Given the description of an element on the screen output the (x, y) to click on. 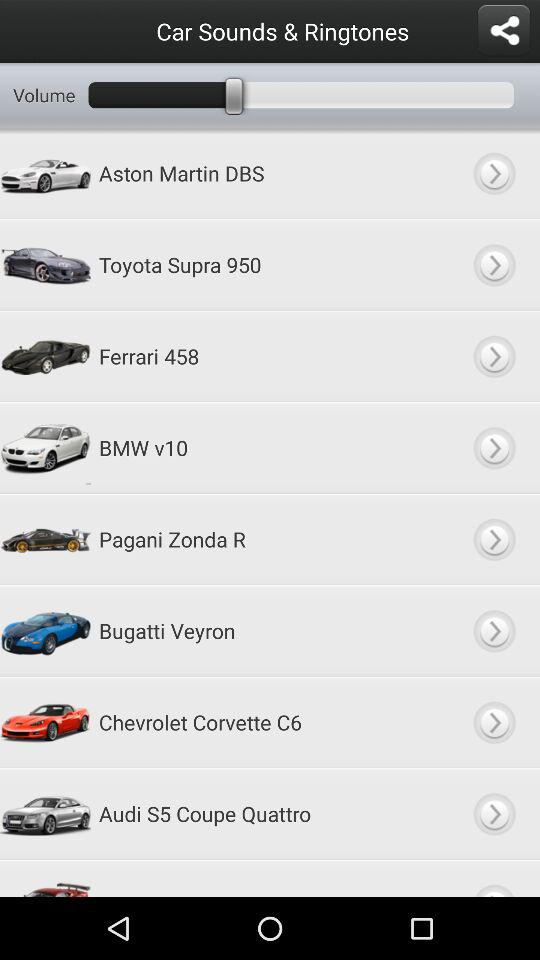
share with others (503, 31)
